Given the description of an element on the screen output the (x, y) to click on. 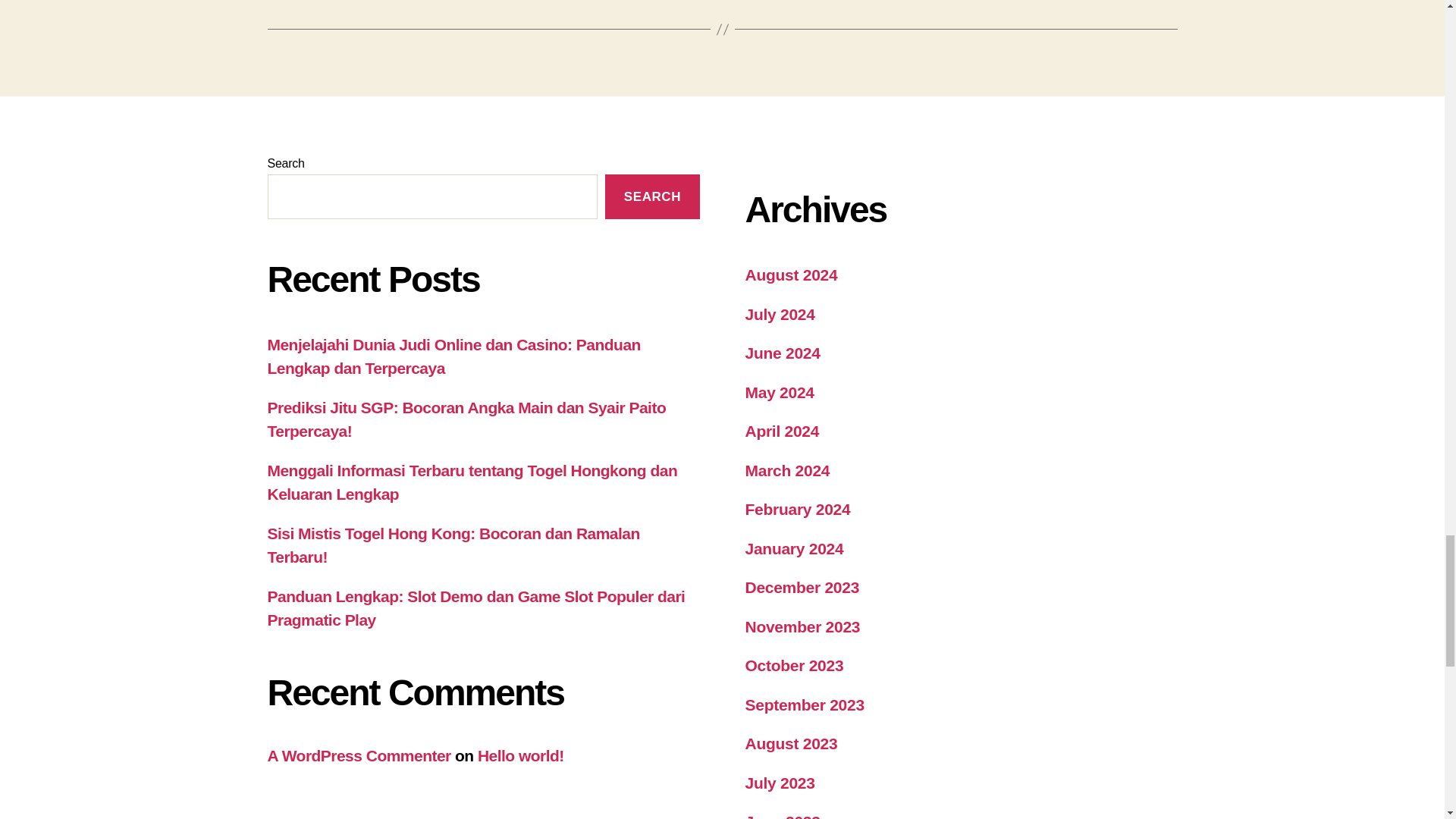
April 2024 (781, 430)
A WordPress Commenter (357, 755)
September 2023 (803, 704)
June 2024 (781, 352)
July 2023 (778, 782)
October 2023 (793, 665)
SEARCH (651, 196)
Sisi Mistis Togel Hong Kong: Bocoran dan Ramalan Terbaru! (452, 545)
August 2024 (790, 274)
June 2023 (781, 816)
March 2024 (786, 470)
November 2023 (802, 626)
